Given the description of an element on the screen output the (x, y) to click on. 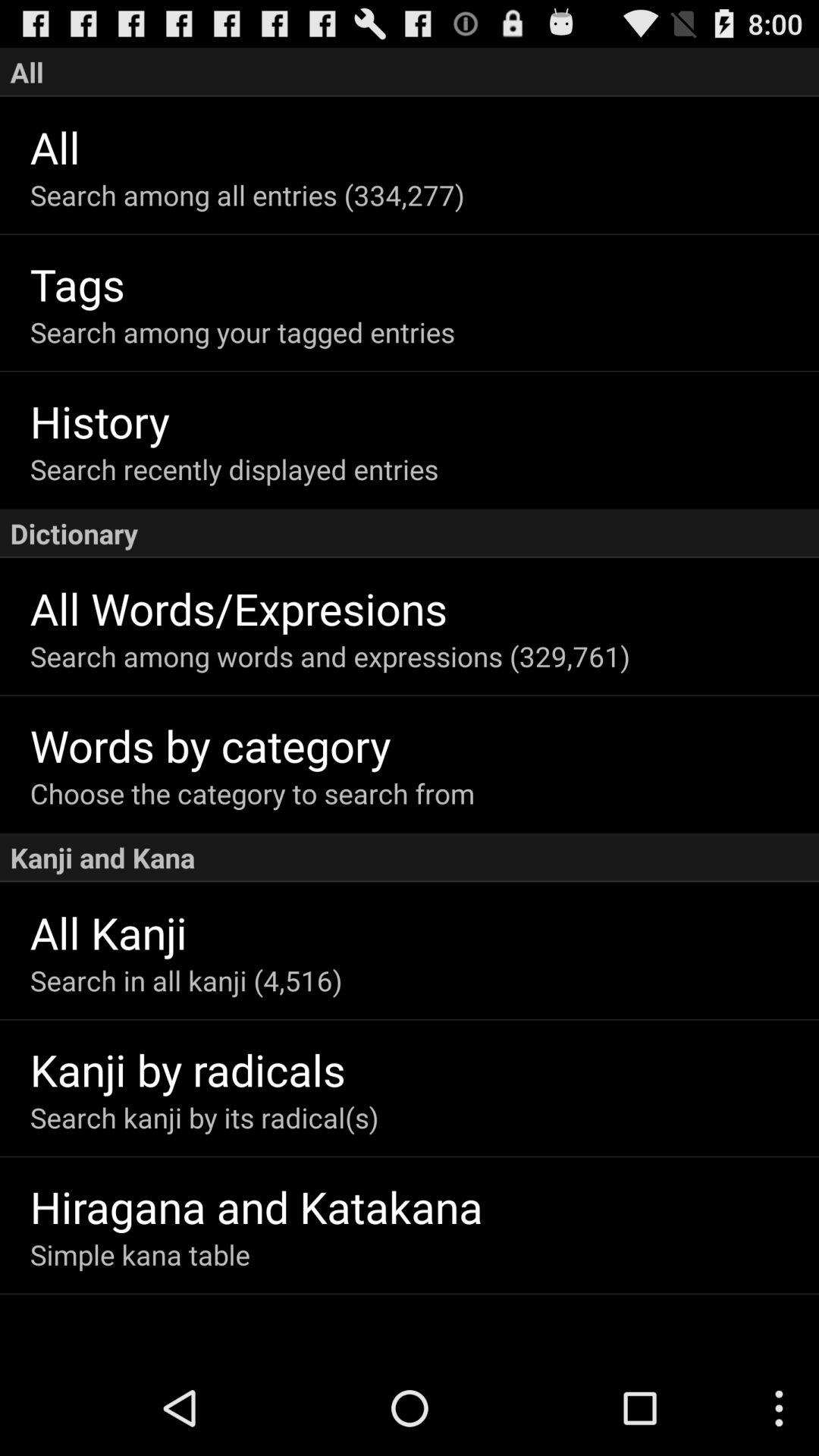
flip until search recently displayed icon (424, 468)
